Given the description of an element on the screen output the (x, y) to click on. 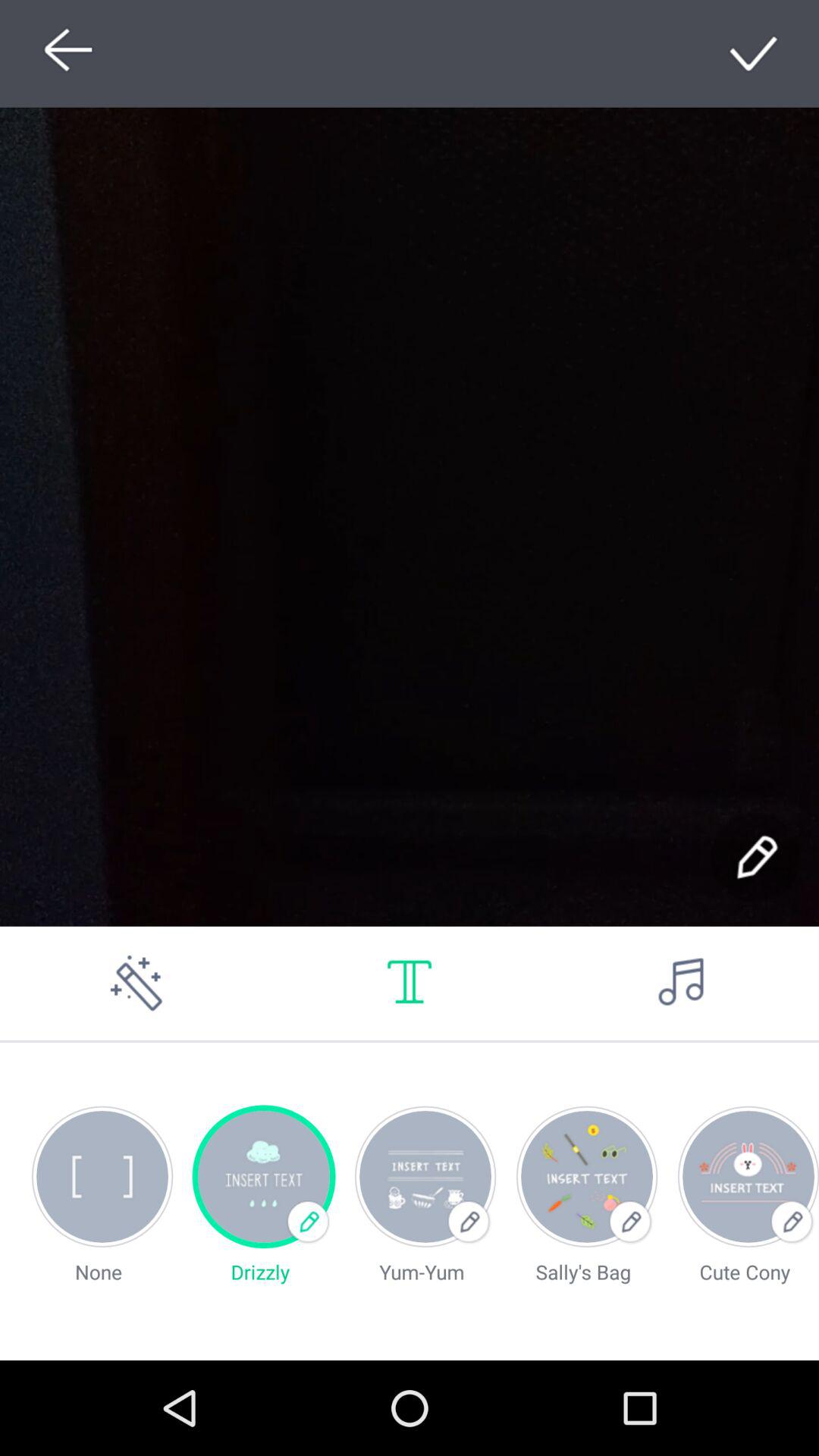
go back (63, 53)
